Given the description of an element on the screen output the (x, y) to click on. 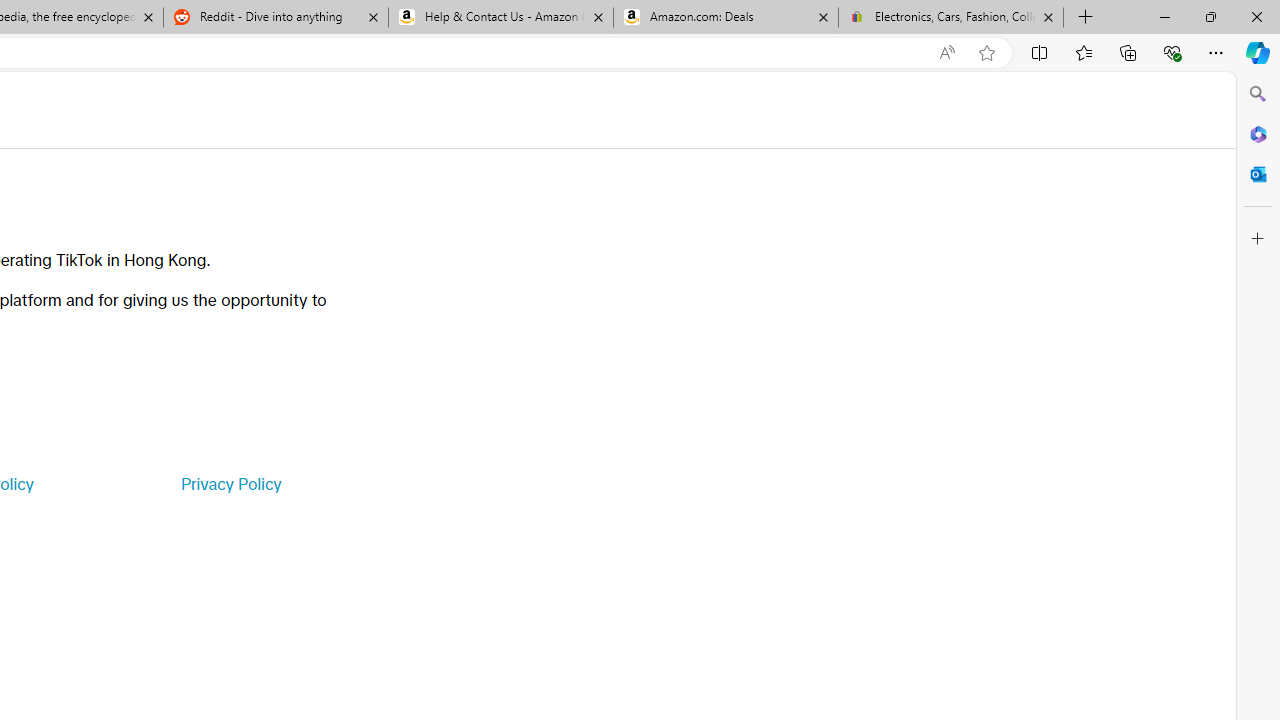
Amazon.com: Deals (726, 17)
Privacy Policy (230, 484)
